Given the description of an element on the screen output the (x, y) to click on. 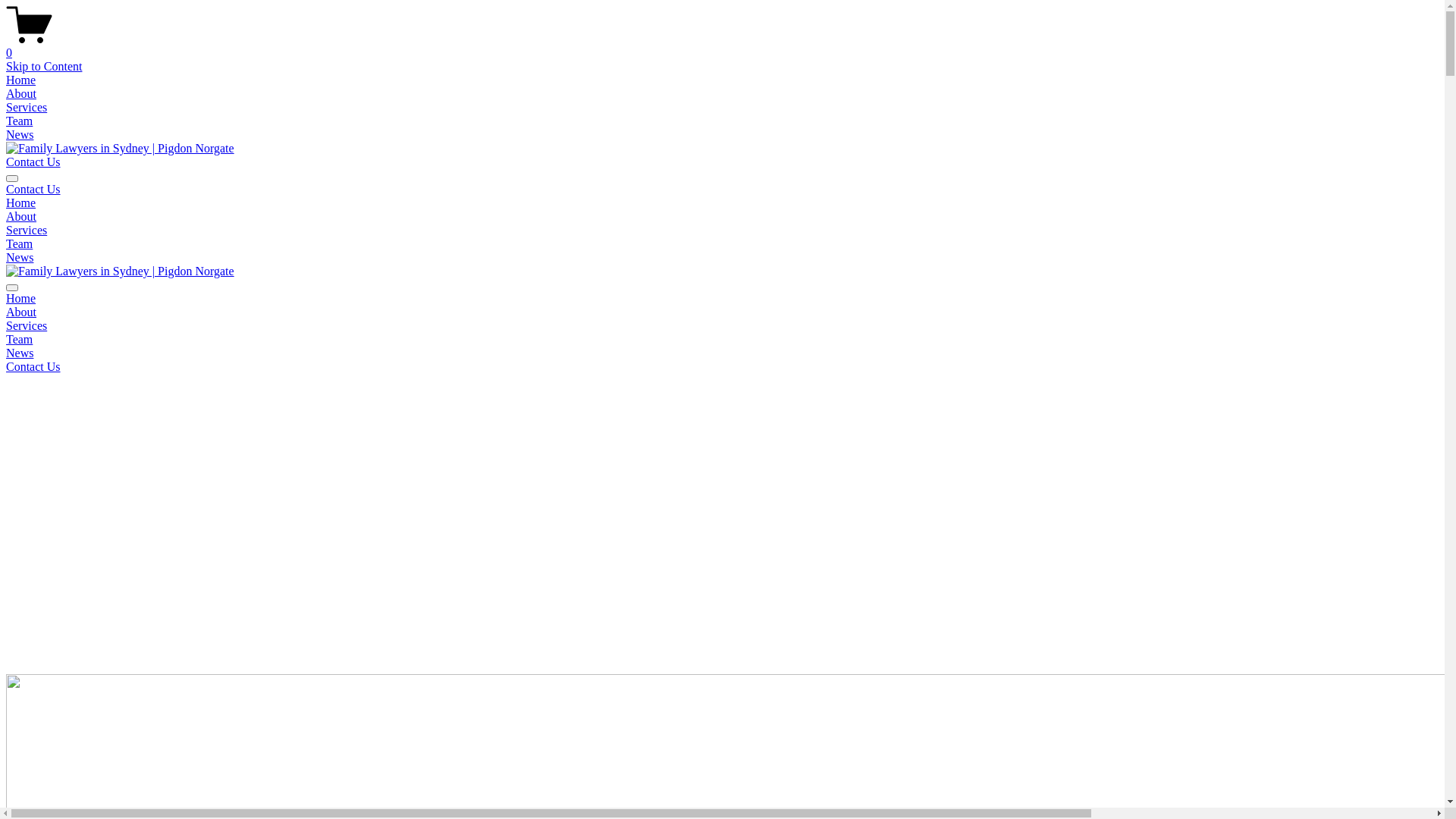
News Element type: text (19, 352)
Services Element type: text (26, 229)
News Element type: text (19, 134)
Contact Us Element type: text (33, 188)
Services Element type: text (26, 325)
Home Element type: text (20, 202)
Home Element type: text (20, 297)
Team Element type: text (19, 243)
About Element type: text (21, 216)
About Element type: text (21, 311)
Skip to Content Element type: text (43, 65)
Team Element type: text (19, 338)
News Element type: text (19, 257)
0 Element type: text (722, 45)
Contact Us Element type: text (33, 161)
About Element type: text (21, 93)
Contact Us Element type: text (33, 366)
Services Element type: text (26, 106)
Team Element type: text (19, 120)
Home Element type: text (20, 79)
